Given the description of an element on the screen output the (x, y) to click on. 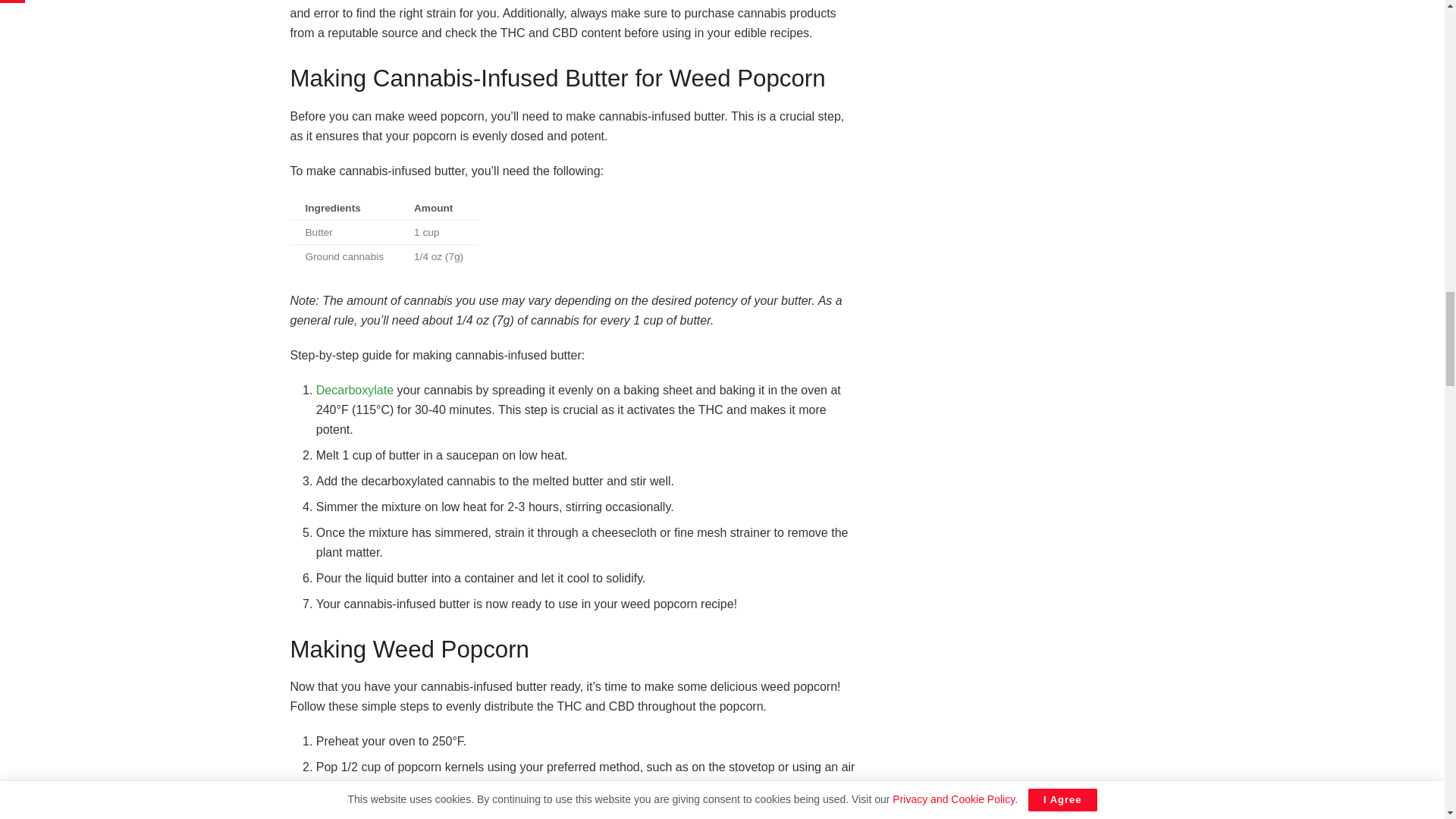
Decarboxylate (354, 390)
